Given the description of an element on the screen output the (x, y) to click on. 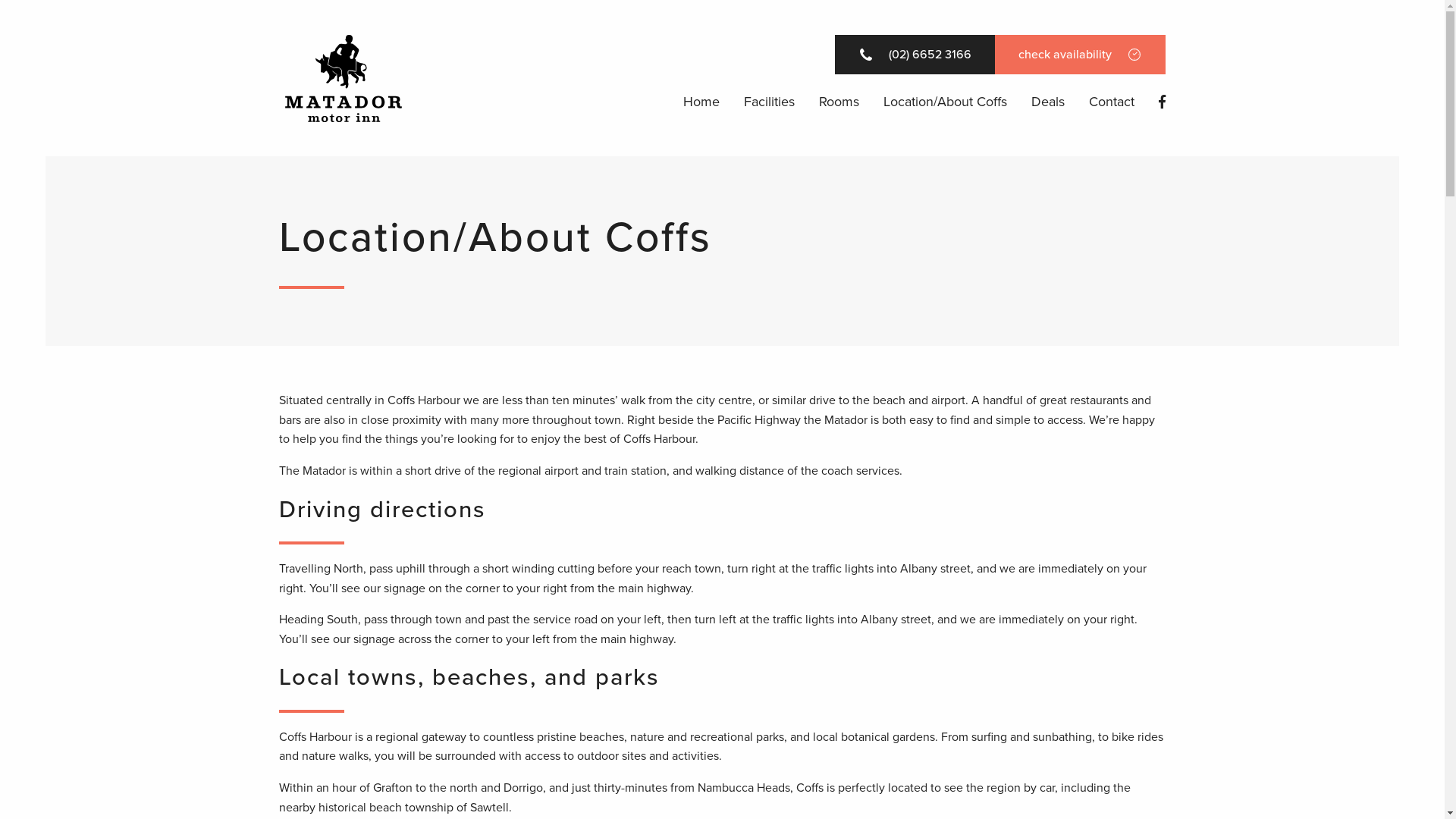
Facilities Element type: text (768, 101)
check availability Element type: text (1079, 54)
Location/About Coffs Element type: text (945, 101)
Rooms Element type: text (838, 101)
Home Element type: text (701, 101)
Deals Element type: text (1047, 101)
(02) 6652 3166 Element type: text (914, 54)
Contact Element type: text (1111, 101)
